Given the description of an element on the screen output the (x, y) to click on. 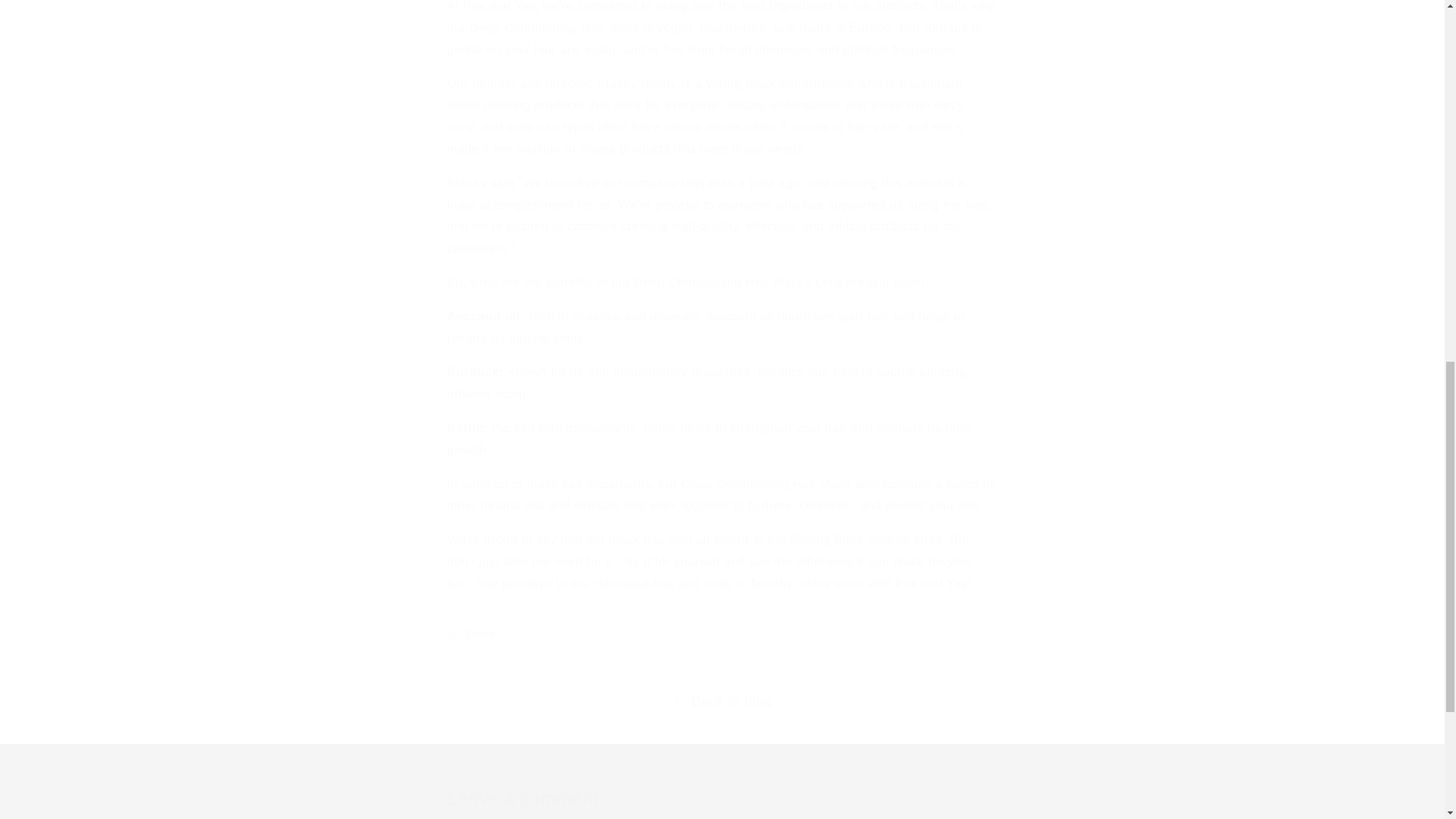
Share (721, 634)
Deep Conditioning Hair Mask (765, 483)
Deep Conditioning Hair Mask (553, 27)
Beauty Bible Awards 2023 (866, 539)
